Given the description of an element on the screen output the (x, y) to click on. 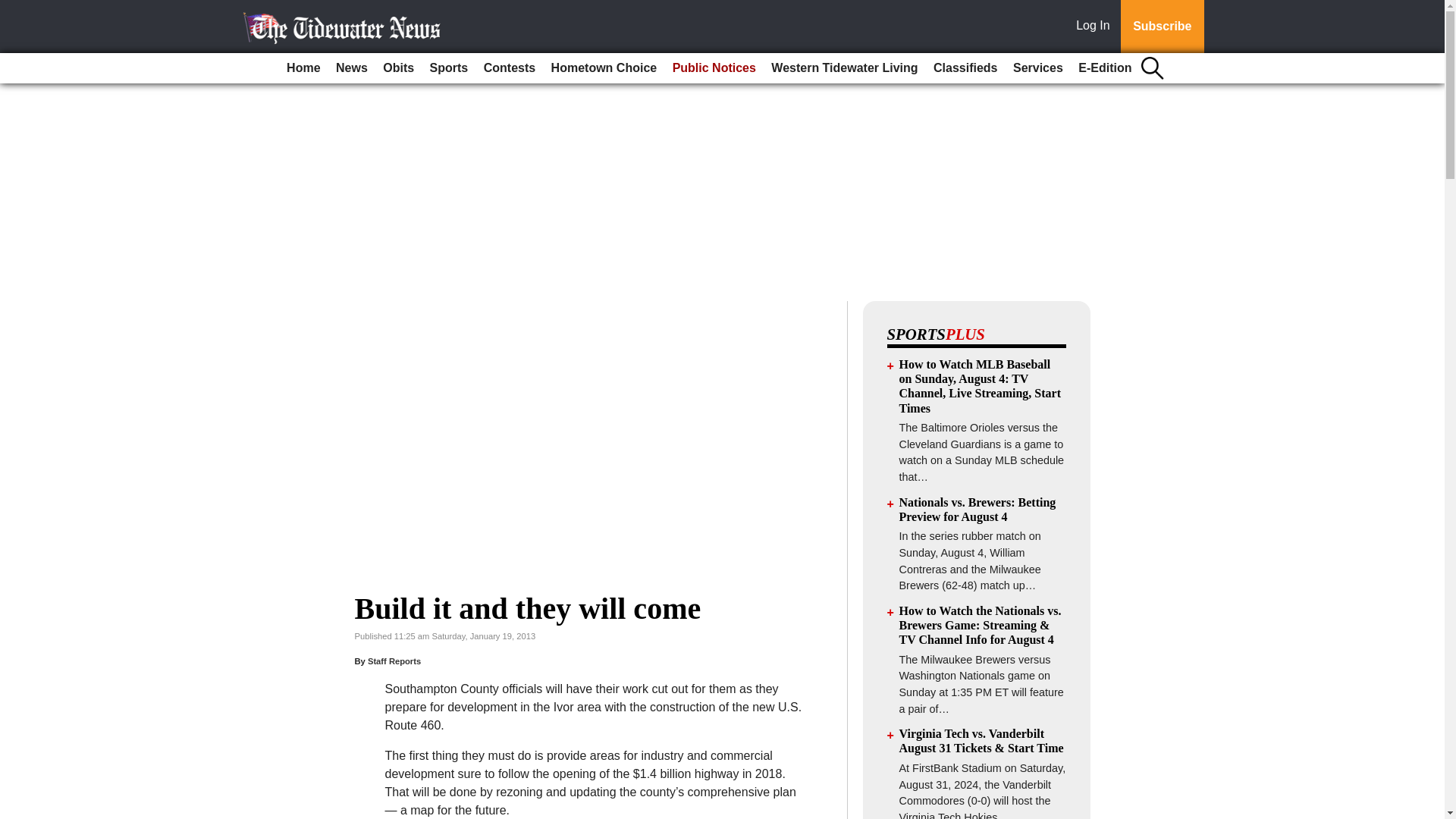
Subscribe (1162, 26)
Western Tidewater Living (844, 68)
Home (303, 68)
Contests (509, 68)
Hometown Choice (603, 68)
Sports (448, 68)
Log In (1095, 26)
Obits (398, 68)
Services (1037, 68)
Go (13, 9)
E-Edition (1104, 68)
Public Notices (713, 68)
News (352, 68)
Staff Reports (394, 660)
Classifieds (965, 68)
